Given the description of an element on the screen output the (x, y) to click on. 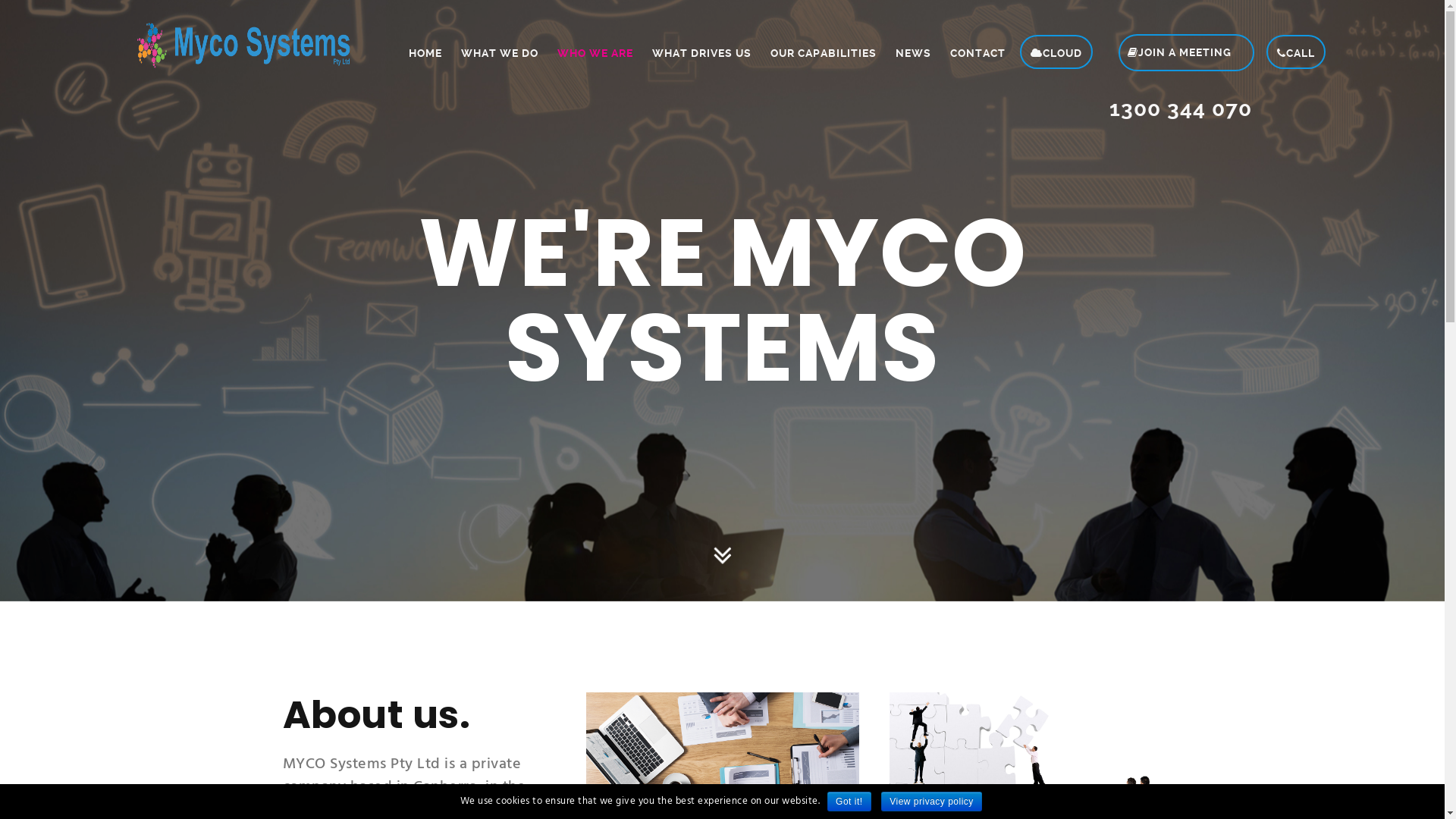
JOIN A MEETING Element type: text (1171, 35)
Got it! Element type: text (849, 801)
WHO WE ARE Element type: text (585, 49)
NEWS Element type: text (903, 49)
Myco Systems Element type: hover (243, 45)
CLOUD Element type: text (1056, 51)
CONTACT Element type: text (968, 49)
CALL Element type: text (1295, 51)
1300 344 070 Element type: text (1171, 105)
WHAT DRIVES US Element type: text (692, 49)
WHAT WE DO Element type: text (490, 49)
HOME Element type: text (415, 49)
View privacy policy Element type: text (931, 801)
OUR CAPABILITIES Element type: text (813, 49)
